Given the description of an element on the screen output the (x, y) to click on. 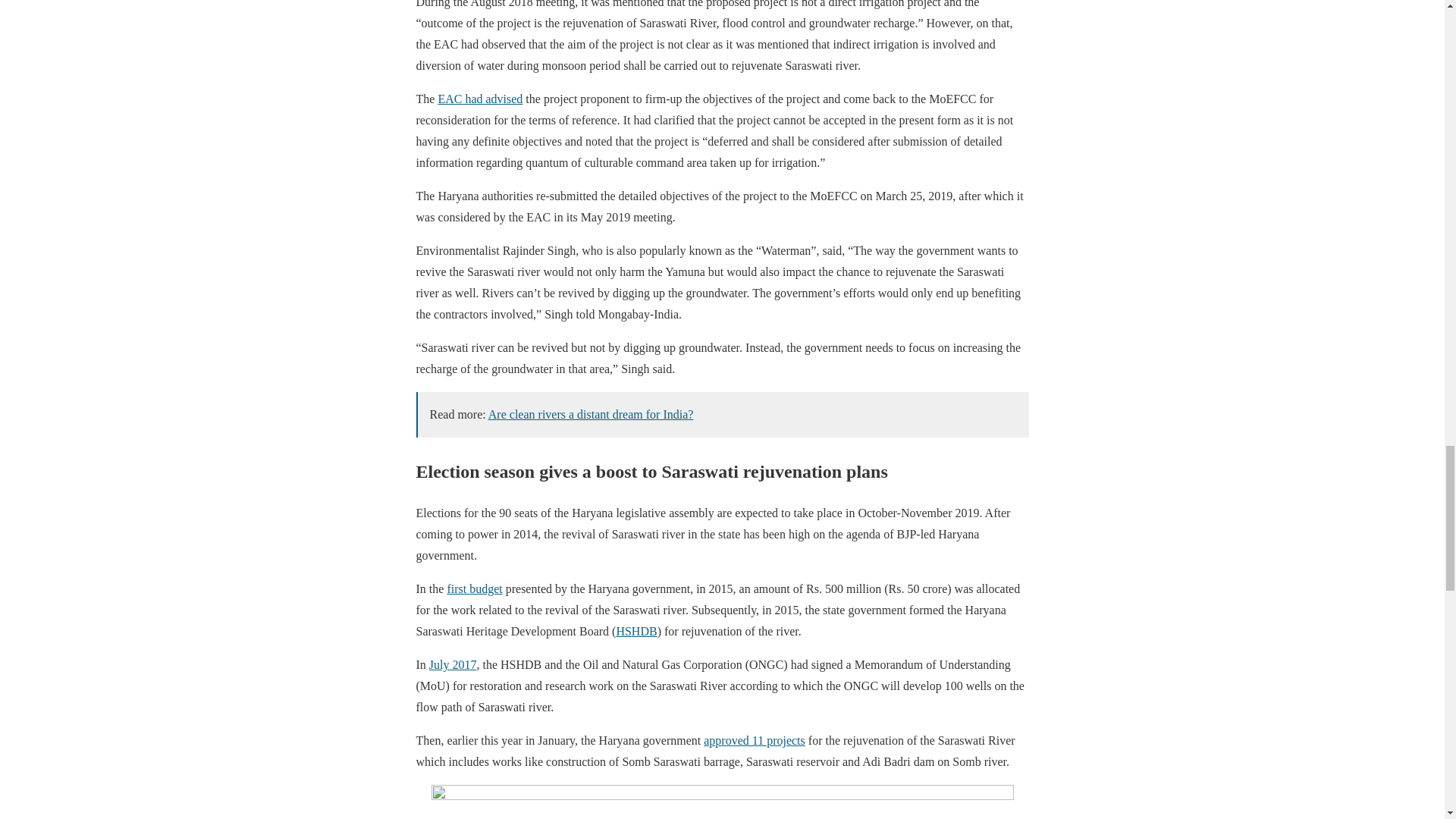
approved 11 projects (754, 739)
EAC had advised (480, 98)
Are clean rivers a distant dream for India? (590, 413)
July 2017 (453, 664)
first budget (474, 588)
HSHDB (635, 631)
